Given the description of an element on the screen output the (x, y) to click on. 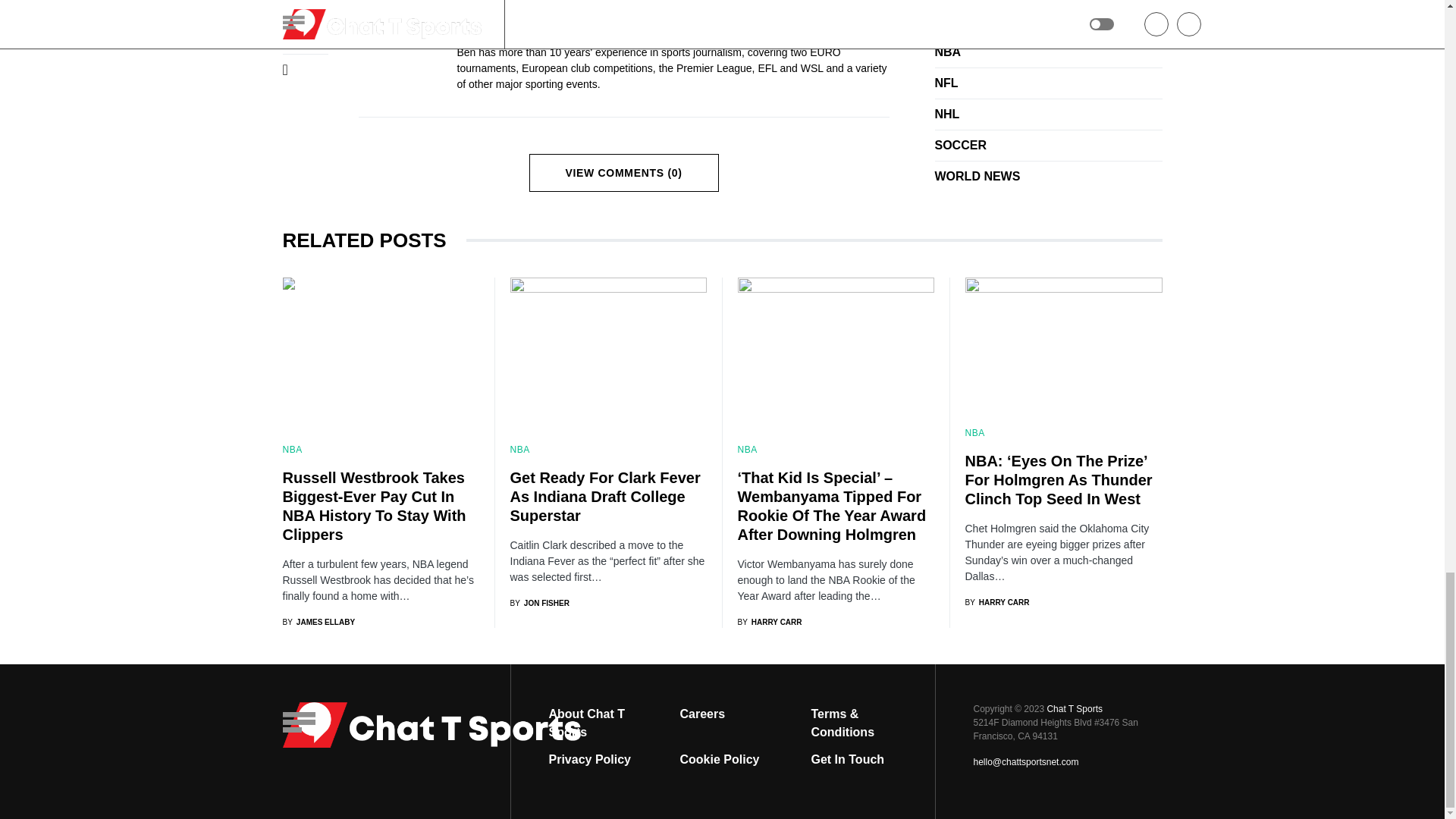
View all posts by Jon Fisher (539, 603)
View all posts by Harry Carr (996, 602)
View all posts by James Ellaby (318, 622)
View all posts by Harry Carr (769, 622)
